Given the description of an element on the screen output the (x, y) to click on. 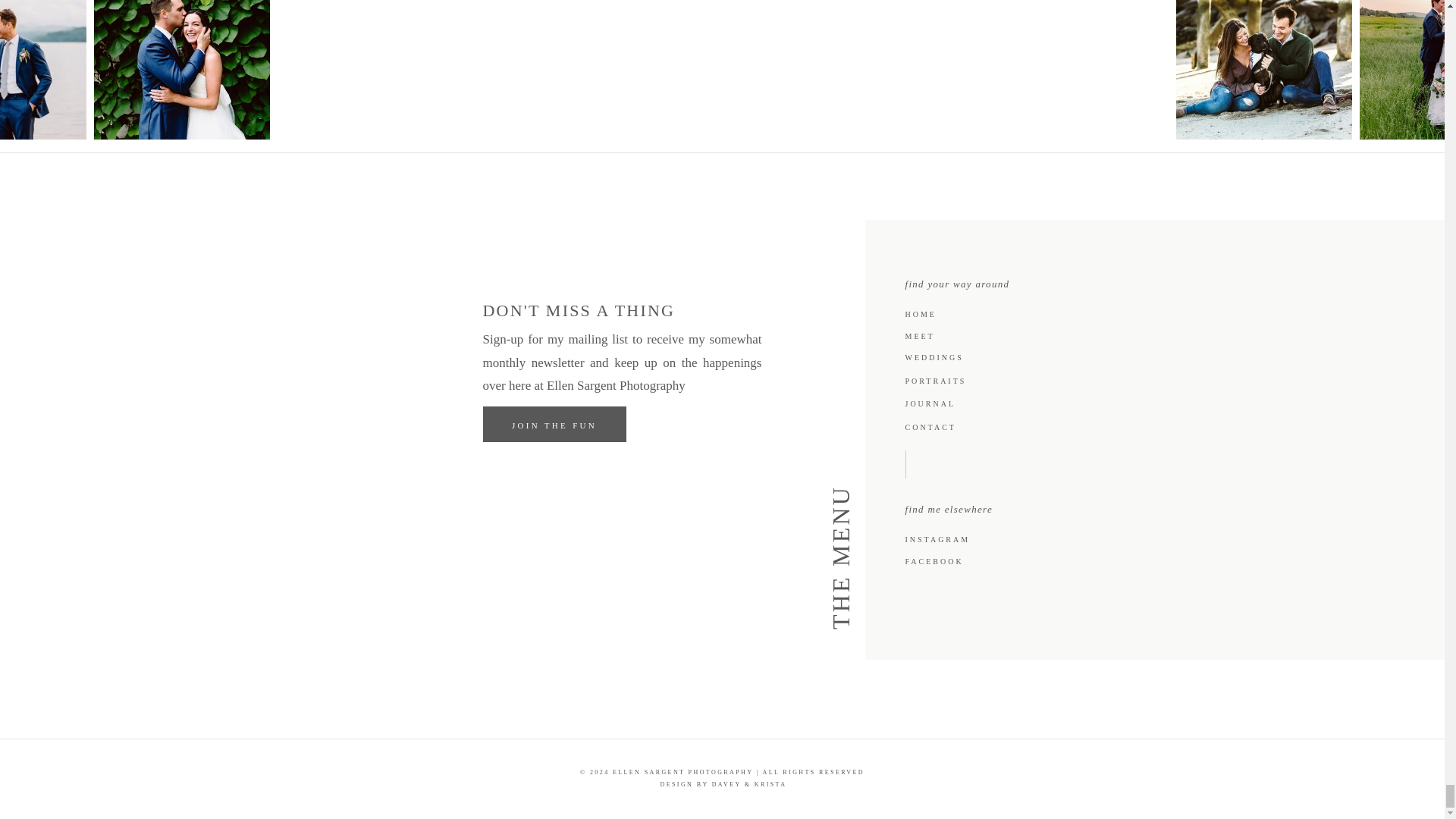
WEDDINGS (938, 356)
JOURNAL (933, 402)
DON'T MISS A THING (595, 314)
CONTACT (938, 426)
PORTRAITS (937, 379)
MEET (924, 335)
find your way around (990, 280)
